Given the description of an element on the screen output the (x, y) to click on. 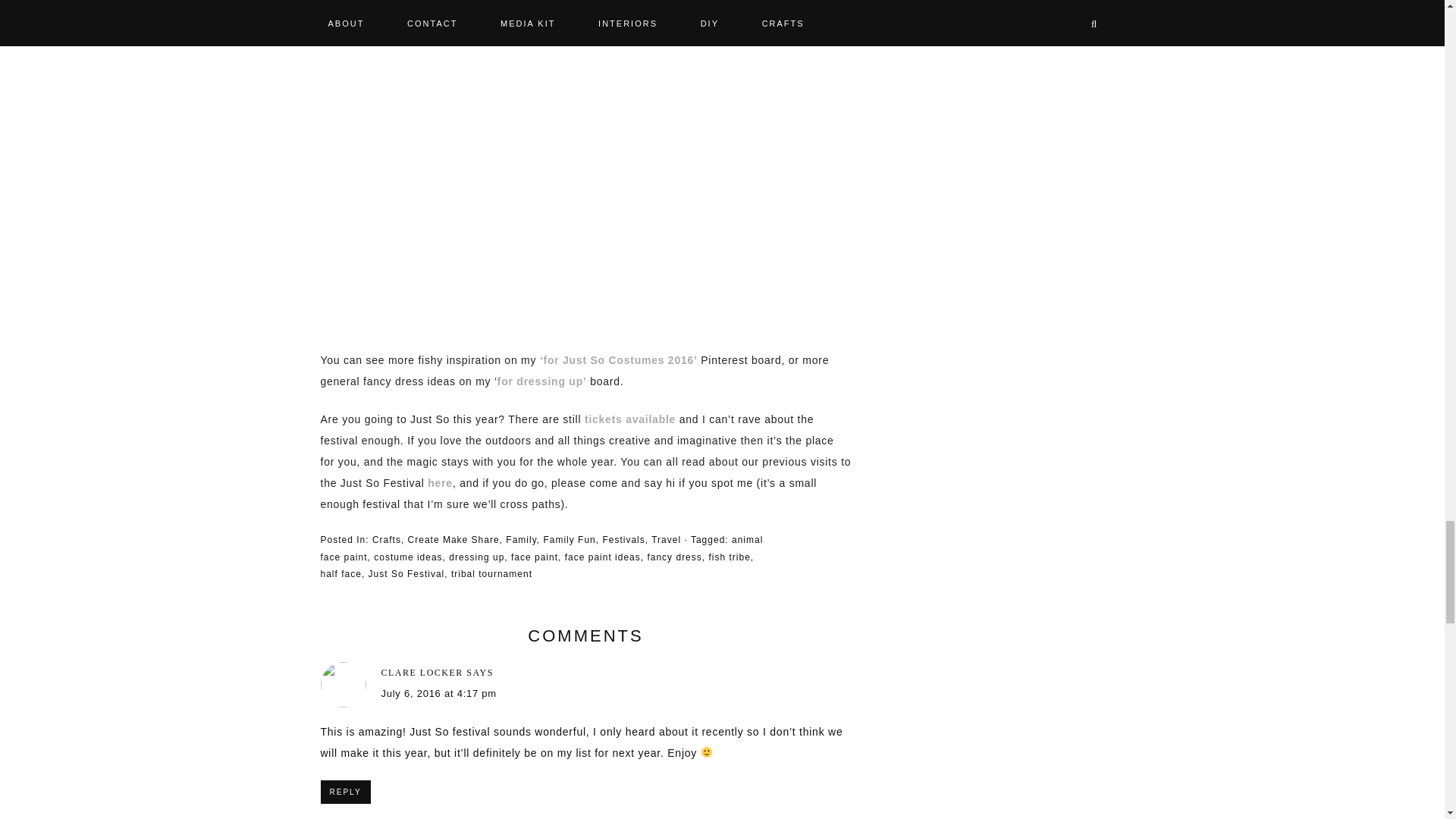
Travel (665, 539)
tickets available (630, 419)
fish tribe (728, 557)
face paint ideas (602, 557)
Festivals (623, 539)
REPLY (344, 791)
fancy dress (673, 557)
Create Make Share (453, 539)
Just So Festival (406, 573)
costume ideas (408, 557)
tribal tournament (491, 573)
Family (520, 539)
dressing up (475, 557)
Crafts (386, 539)
CLARE LOCKER (421, 672)
